Given the description of an element on the screen output the (x, y) to click on. 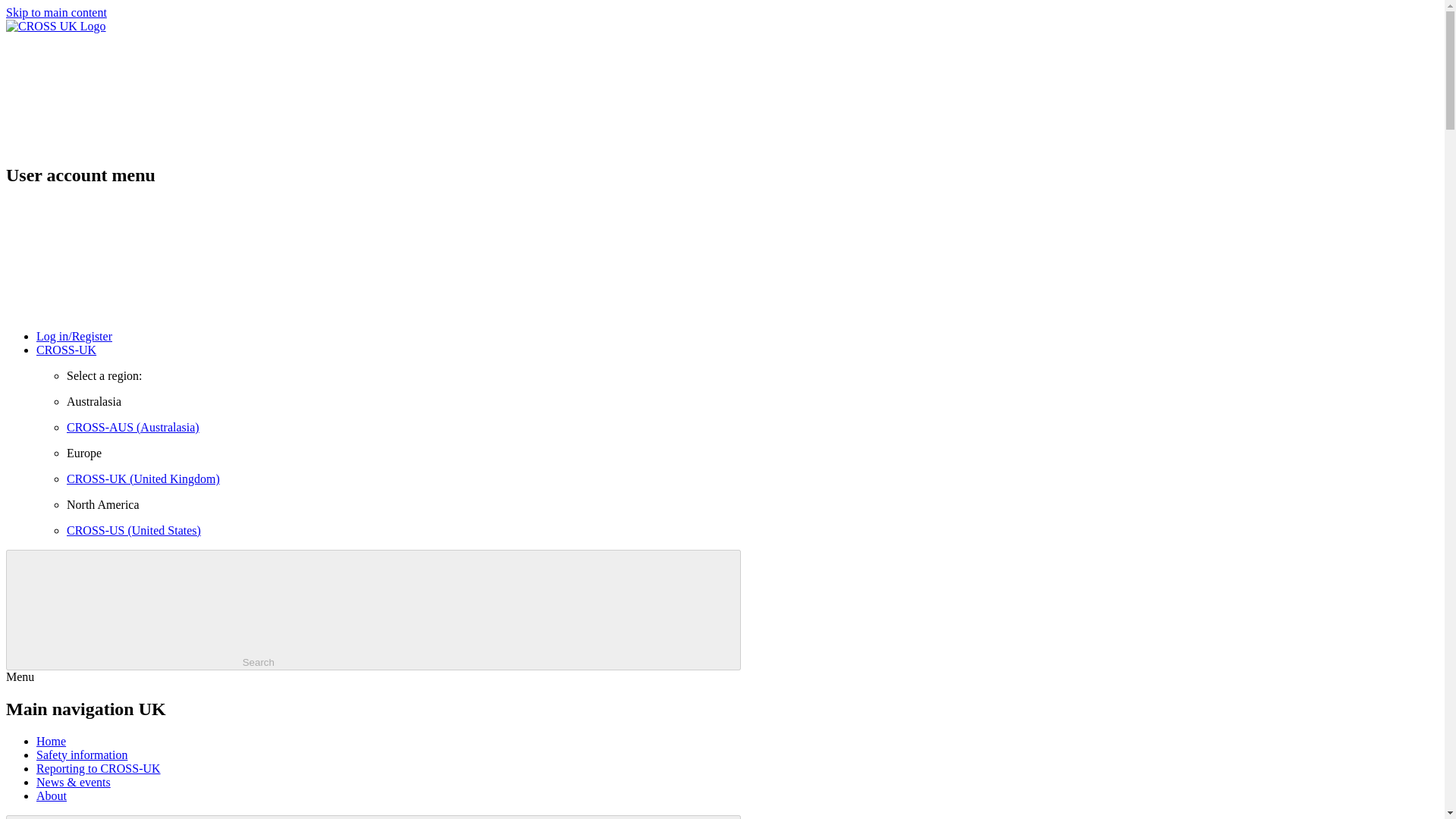
About (51, 795)
Search (373, 609)
Reporting to CROSS-UK (98, 768)
Skip to main content (55, 11)
Home (50, 740)
CROSS-UK (66, 349)
Safety information (82, 754)
